Given the description of an element on the screen output the (x, y) to click on. 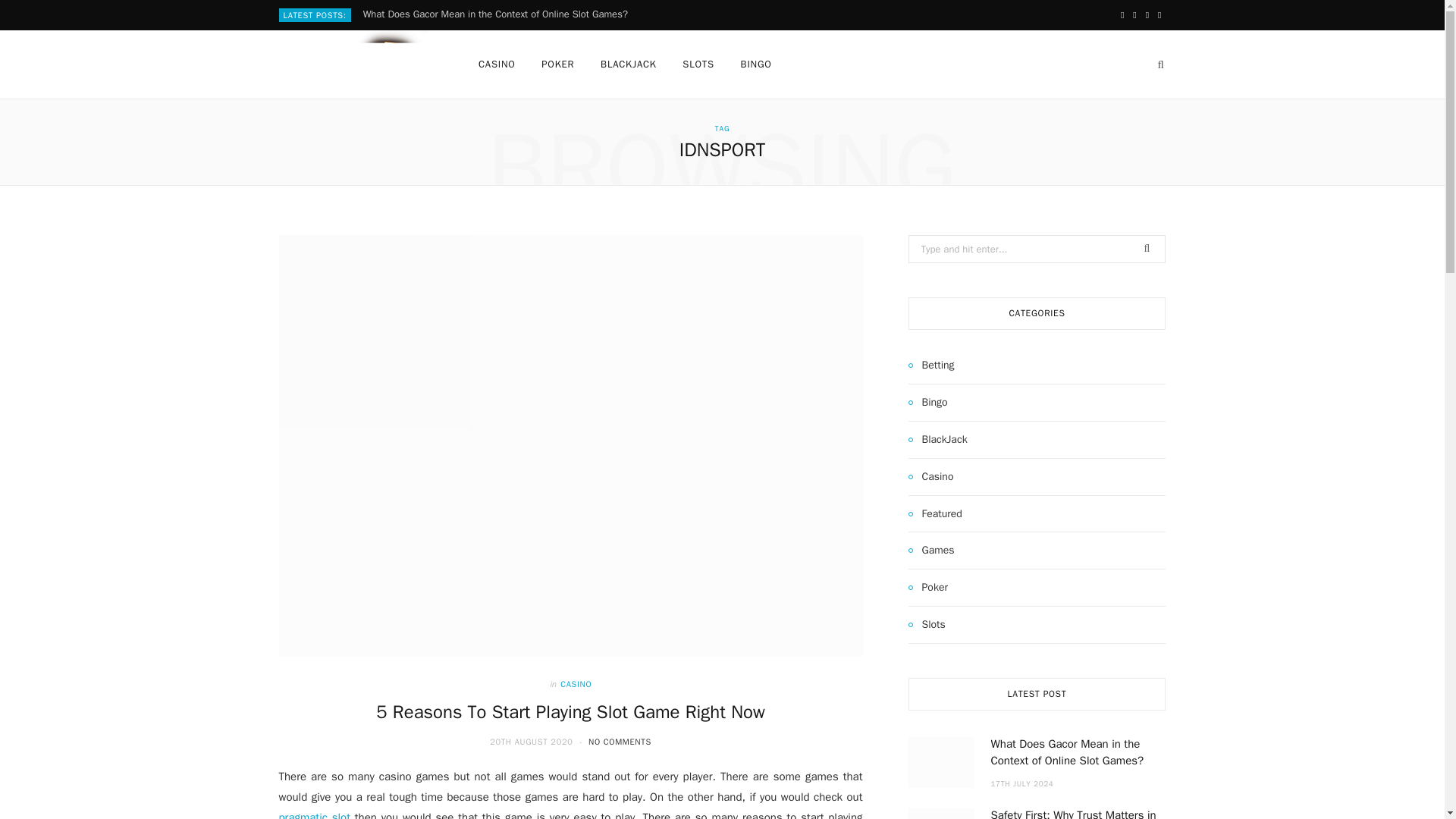
BlackJack (938, 439)
20TH AUGUST 2020 (532, 741)
What Does Gacor Mean in the Context of Online Slot Games? (498, 14)
5 Reasons To Start Playing Slot Game Right Now (569, 712)
Betting (931, 365)
Casino (930, 476)
NO COMMENTS (619, 741)
Bingo (927, 402)
What Does Gacor Mean in the Context of Online Slot Games? (498, 14)
playcranga (354, 64)
pragmatic slot (314, 814)
CASINO (575, 684)
BLACKJACK (628, 64)
